Given the description of an element on the screen output the (x, y) to click on. 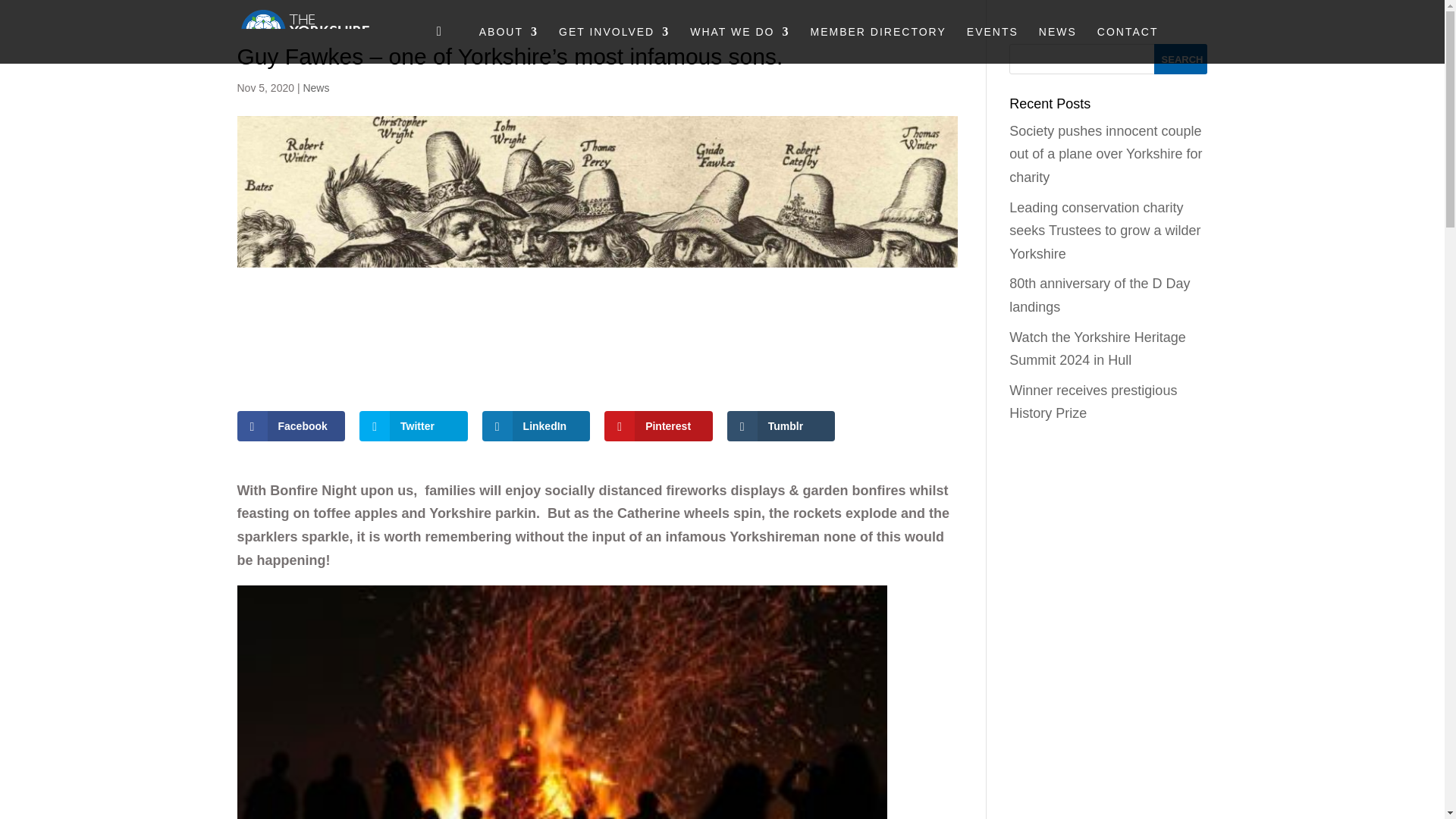
Twitter (413, 426)
GET INVOLVED (614, 44)
ABOUT (508, 44)
WHAT WE DO (739, 44)
Facebook (290, 426)
EVENTS (991, 44)
CONTACT (1127, 44)
LinkedIn (536, 426)
News (315, 87)
Search (1180, 59)
MEMBER DIRECTORY (878, 44)
Tumblr (780, 426)
Search (1180, 59)
Pinterest (658, 426)
